Given the description of an element on the screen output the (x, y) to click on. 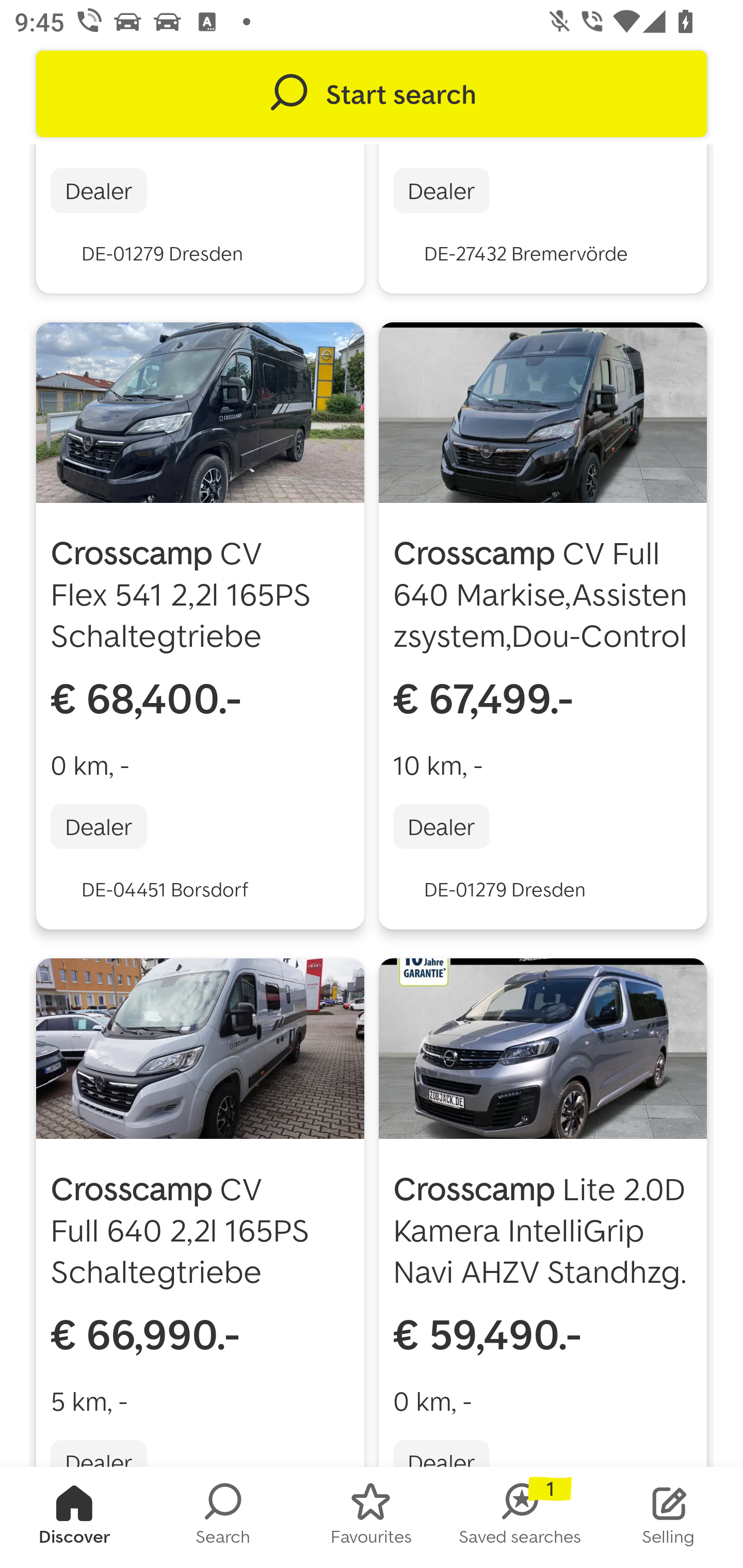
Start search (371, 93)
HOMESCREEN Discover (74, 1517)
SEARCH Search (222, 1517)
FAVORITES Favourites (371, 1517)
SAVED_SEARCHES Saved searches 1 (519, 1517)
STOCK_LIST Selling (668, 1517)
